Given the description of an element on the screen output the (x, y) to click on. 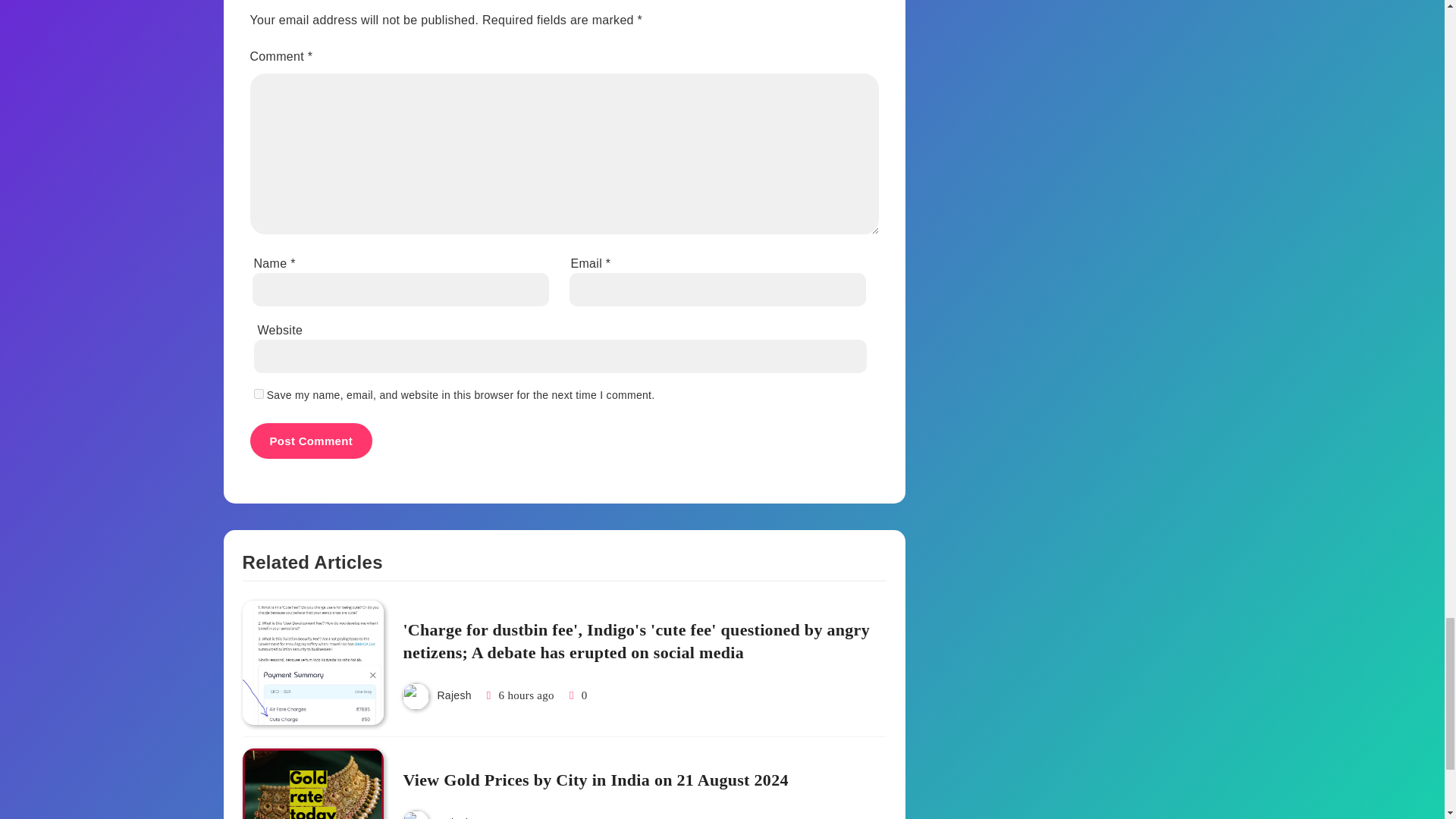
Post Comment (311, 440)
View Gold Prices by City in India on 21 August 2024 (313, 783)
yes (258, 393)
View Gold Prices by City in India on 21 August 2024 (595, 780)
Post Comment (311, 440)
0 (577, 695)
Rajesh (453, 695)
6 hours ago (526, 695)
